Given the description of an element on the screen output the (x, y) to click on. 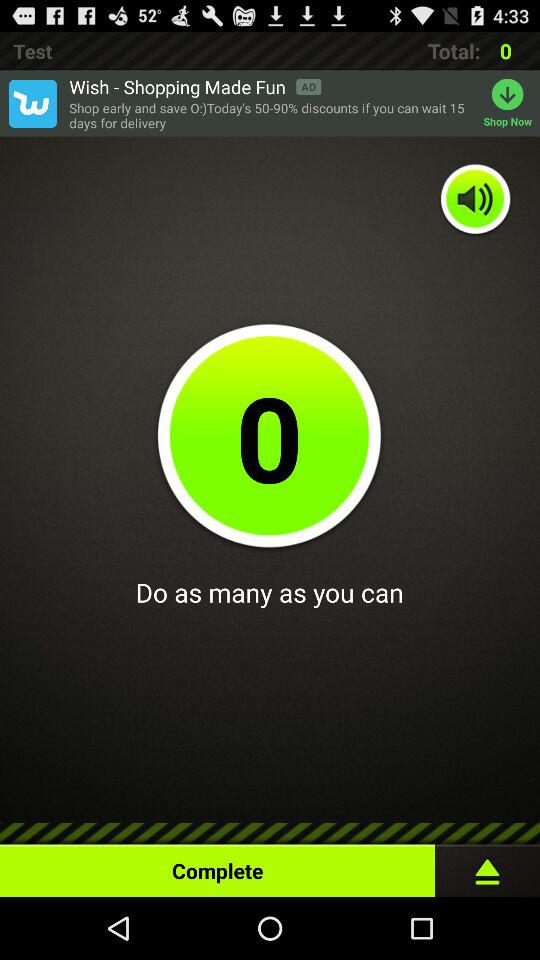
tap item at the bottom right corner (487, 866)
